Given the description of an element on the screen output the (x, y) to click on. 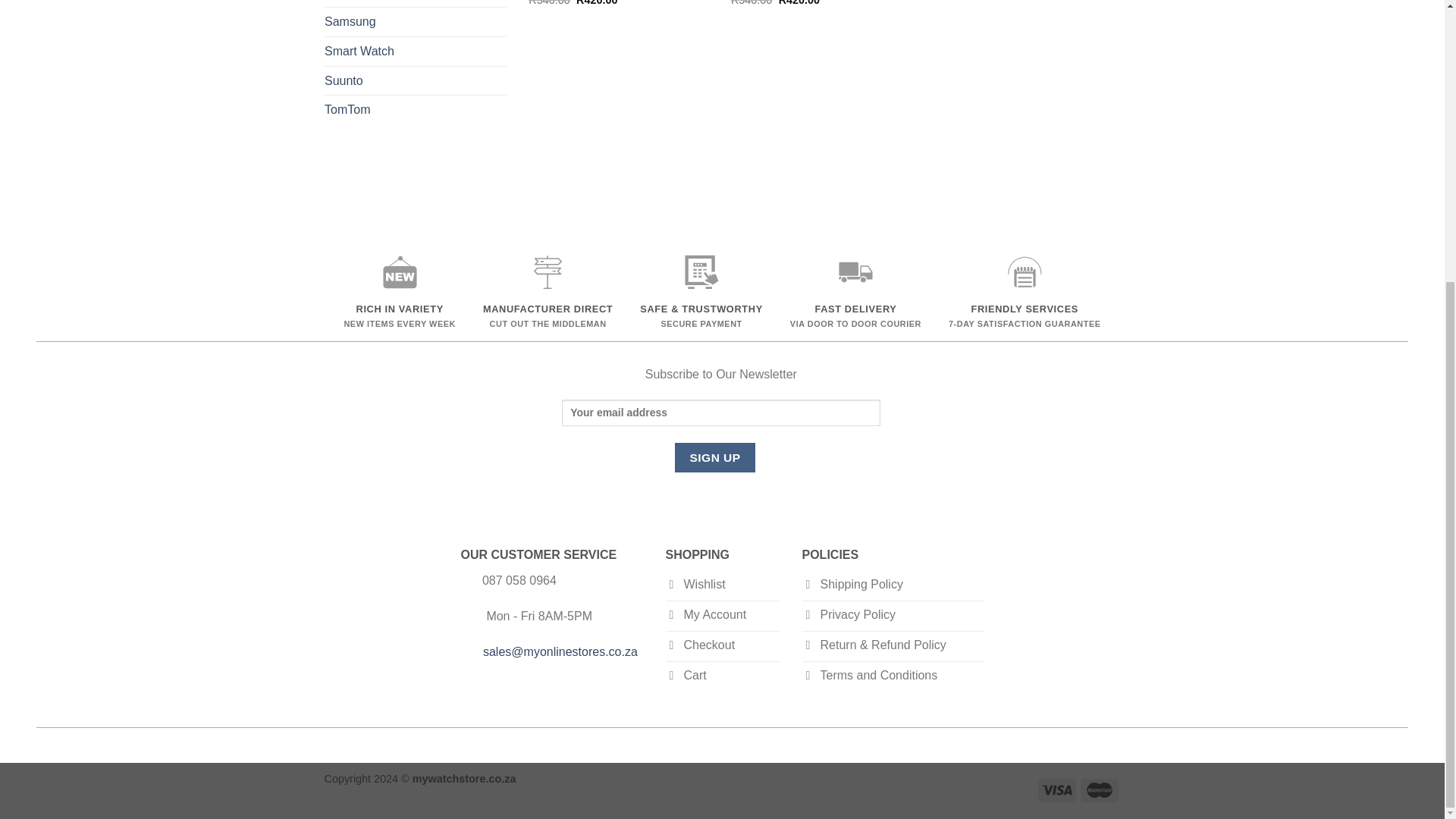
Sign up (715, 457)
